Given the description of an element on the screen output the (x, y) to click on. 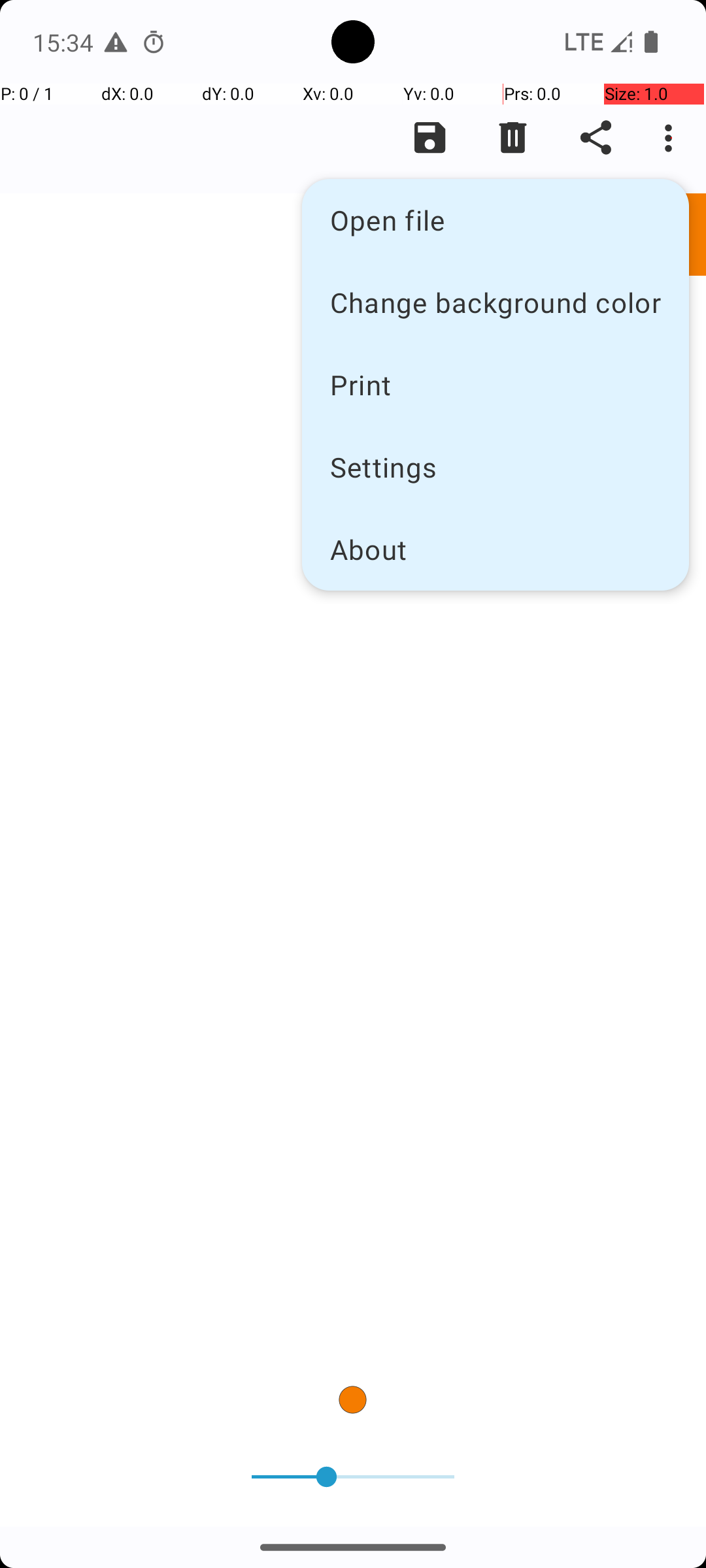
Open file Element type: android.widget.TextView (495, 219)
Change background color Element type: android.widget.TextView (495, 301)
Print Element type: android.widget.TextView (495, 384)
